Given the description of an element on the screen output the (x, y) to click on. 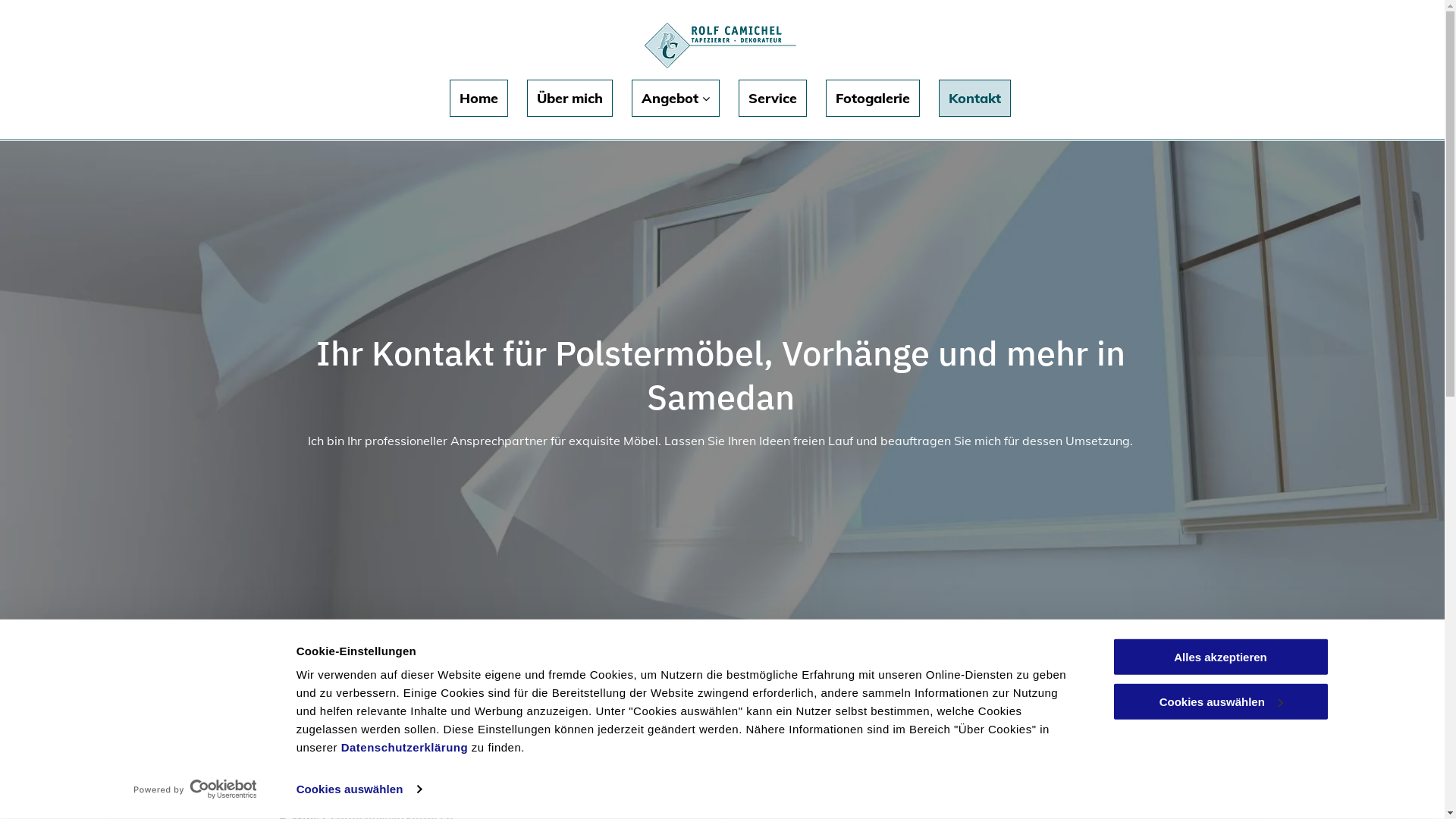
Fotogalerie Element type: text (872, 97)
Service Element type: text (772, 97)
Alles akzeptieren Element type: text (1219, 656)
Kontakt Element type: text (974, 97)
Home Element type: text (478, 97)
Angebot Element type: text (675, 97)
081 852 15 65 Element type: text (370, 797)
